Given the description of an element on the screen output the (x, y) to click on. 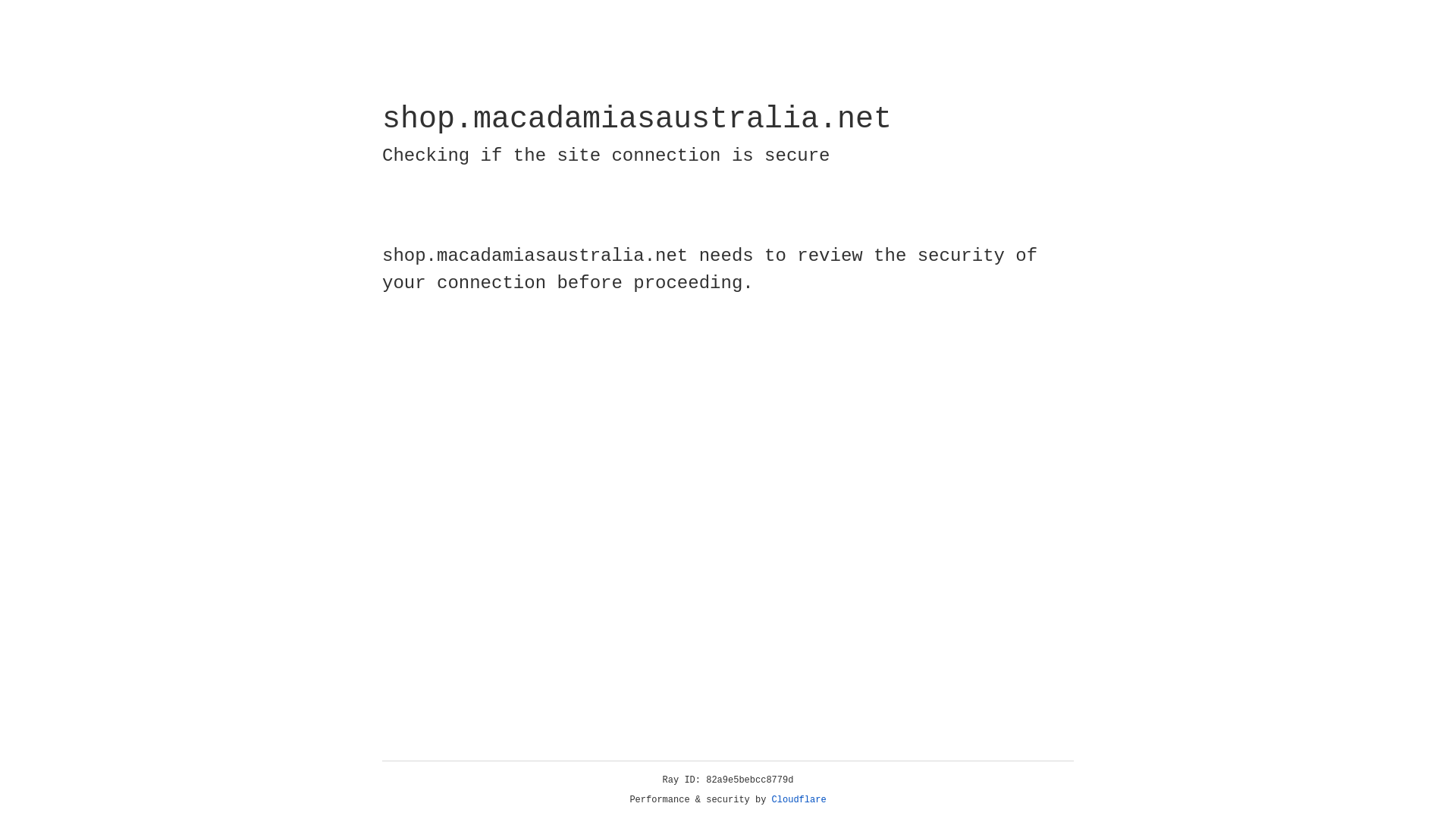
Cloudflare Element type: text (798, 799)
